Given the description of an element on the screen output the (x, y) to click on. 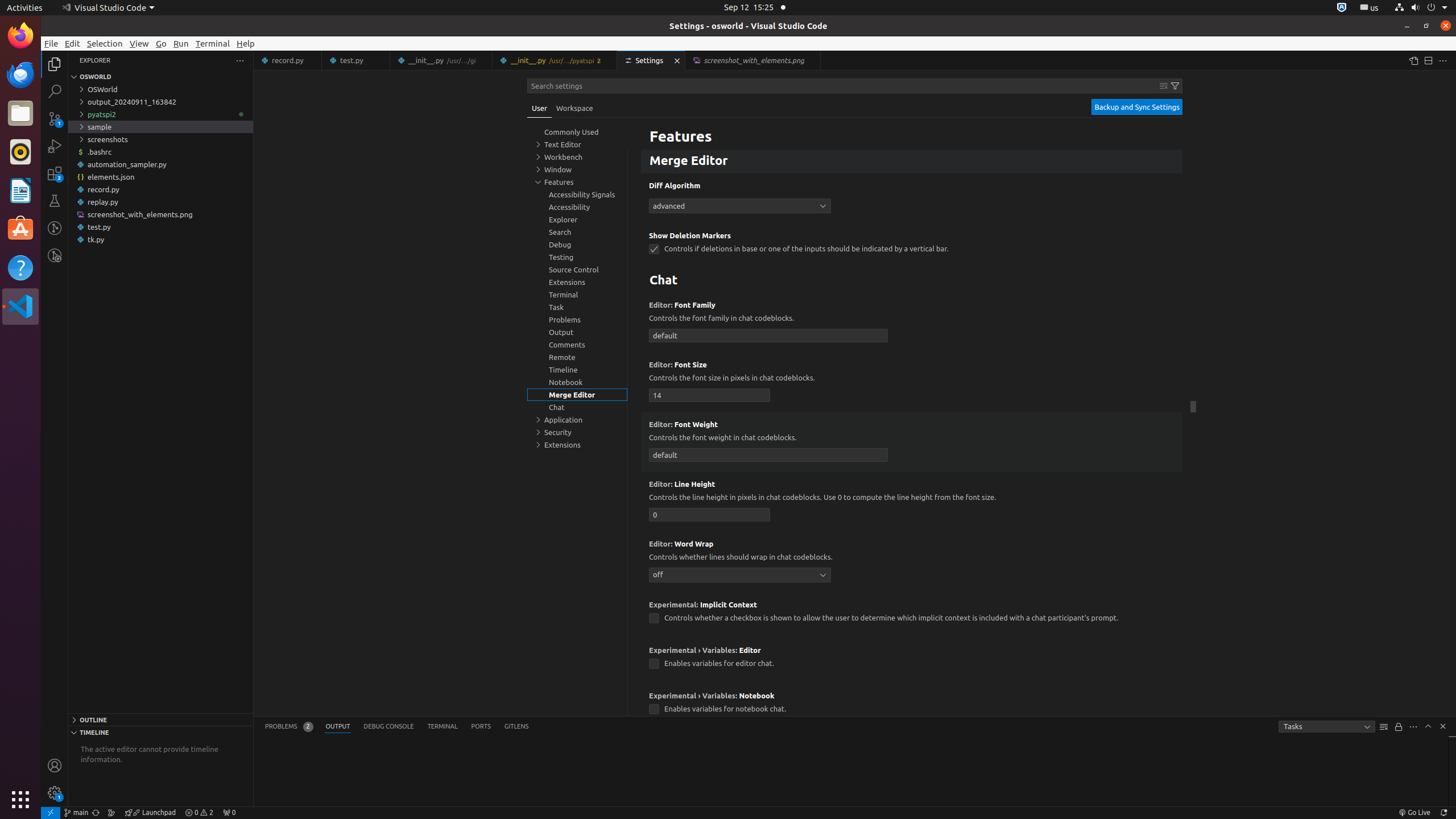
Experimental › Variables Notebook. Enables variables for notebook chat.  Element type: tree-item (911, 706)
Explorer (Ctrl+Shift+E) Element type: page-tab (54, 63)
Terminal, group Element type: tree-item (577, 294)
Outline Section Element type: push-button (160, 719)
